Given the description of an element on the screen output the (x, y) to click on. 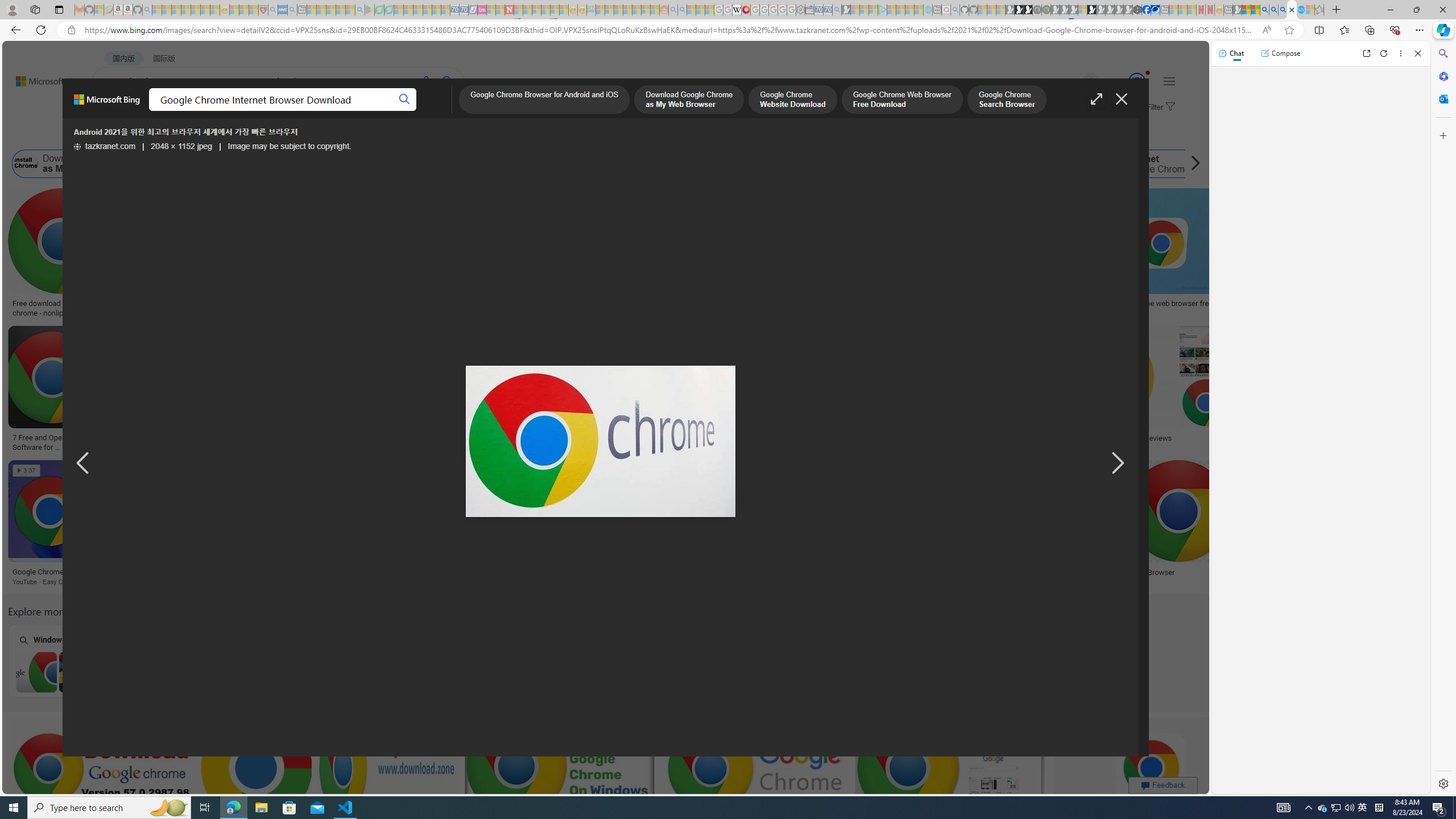
Windows 10 (515, 660)
Dropdown Menu (451, 111)
Download Files Google Chrome Browser Download - vrogue.co (716, 307)
3:37 (26, 470)
Google Chrome Search Browser (480, 163)
